Given the description of an element on the screen output the (x, y) to click on. 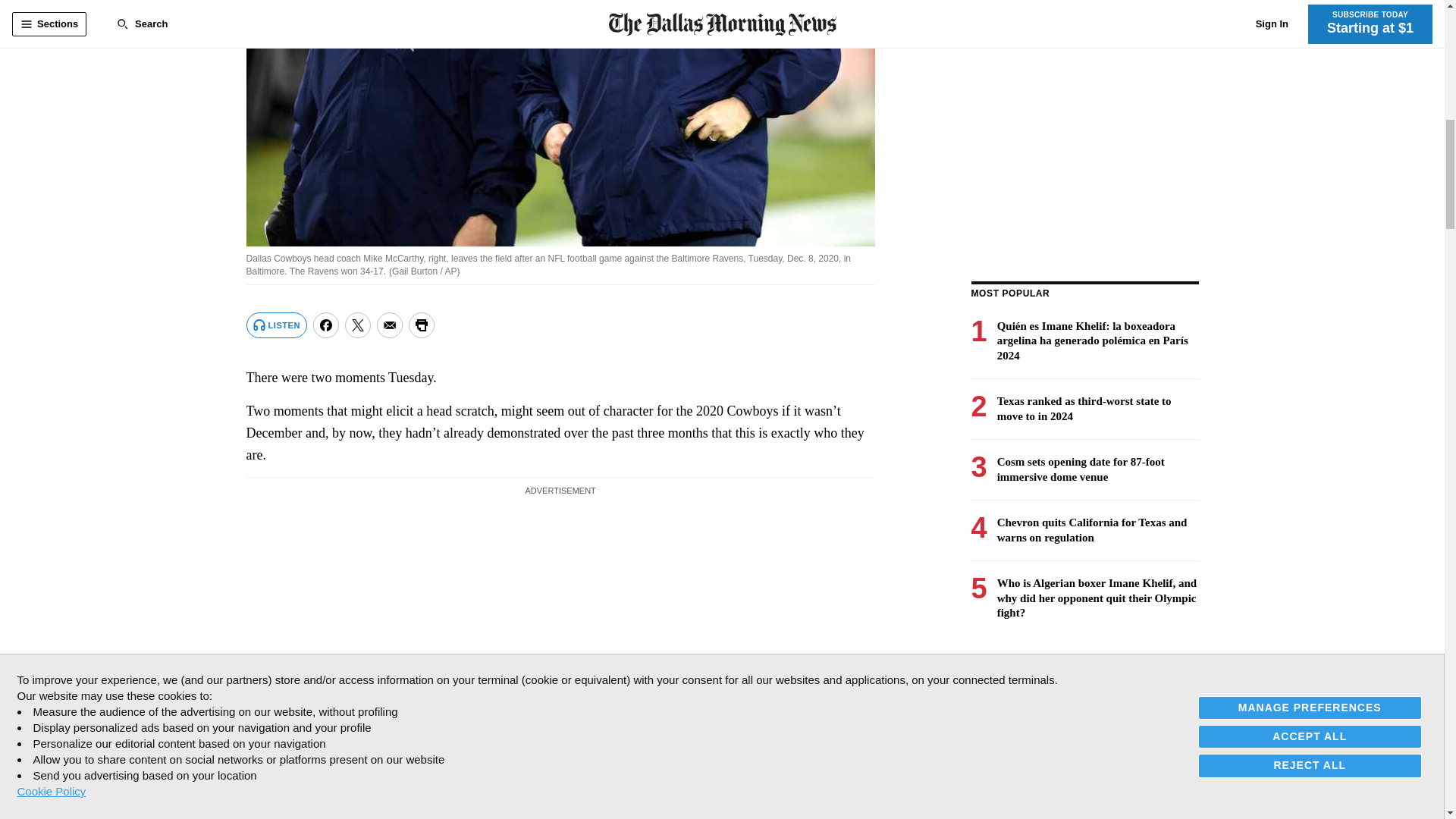
Print (421, 325)
Share on Facebook (326, 325)
Share on Twitter (358, 325)
Share via Email (390, 325)
